Given the description of an element on the screen output the (x, y) to click on. 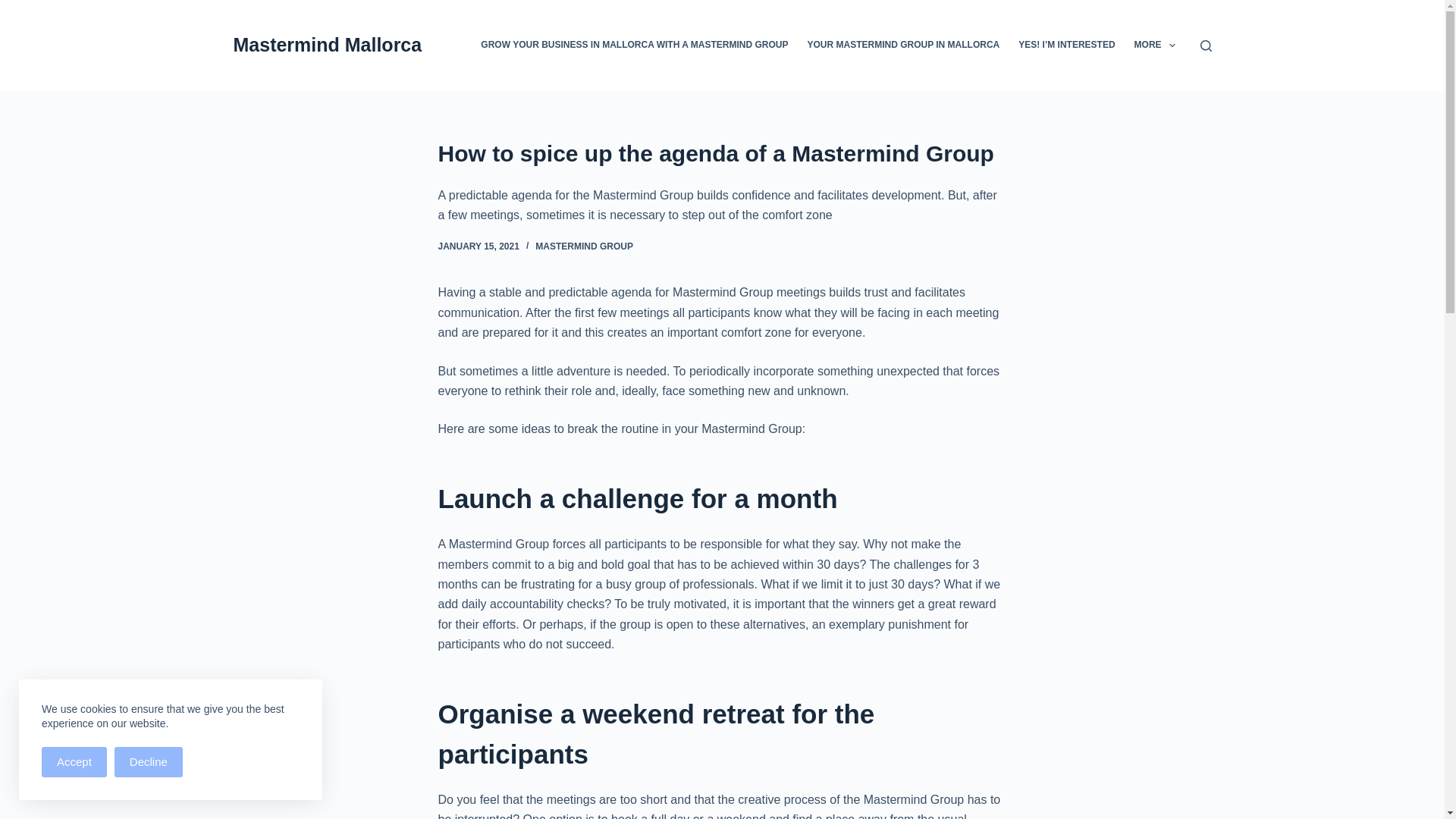
Decline (149, 761)
Accept (74, 761)
How to spice up the agenda of a Mastermind Group (722, 153)
GROW YOUR BUSINESS IN MALLORCA WITH A MASTERMIND GROUP (634, 45)
Mastermind Mallorca (327, 44)
YOUR MASTERMIND GROUP IN MALLORCA (903, 45)
MASTERMIND GROUP (584, 245)
Skip to content (15, 7)
